Given the description of an element on the screen output the (x, y) to click on. 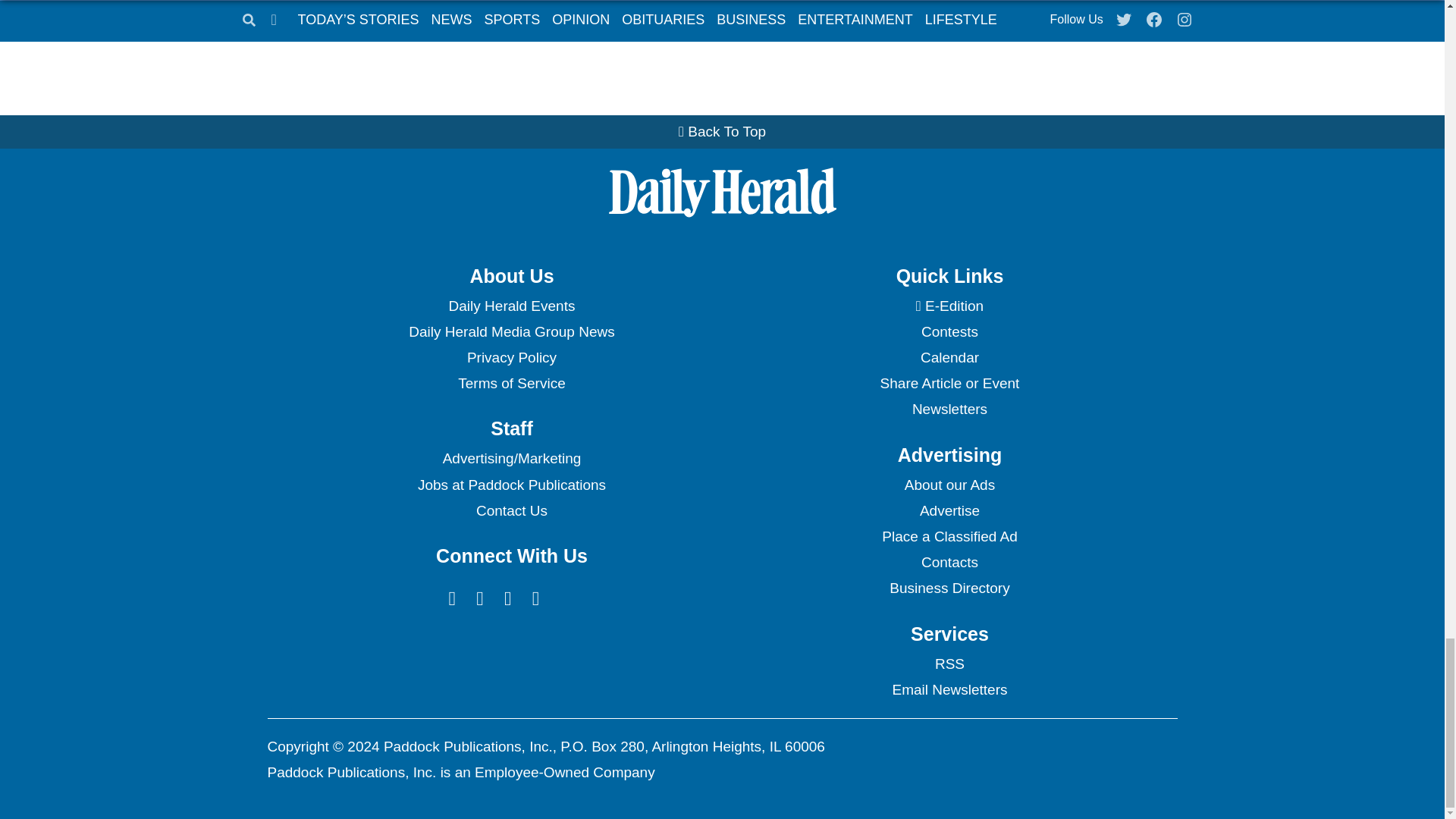
Privacy Policy (511, 357)
Daily Herald Events (511, 306)
Daily Herald Media Group News (511, 331)
Terms of Service (511, 383)
Jobs at Paddock Publications (511, 484)
Daily Herald Digital Newspaper (949, 306)
Contests (949, 331)
Contact Us (511, 510)
